Given the description of an element on the screen output the (x, y) to click on. 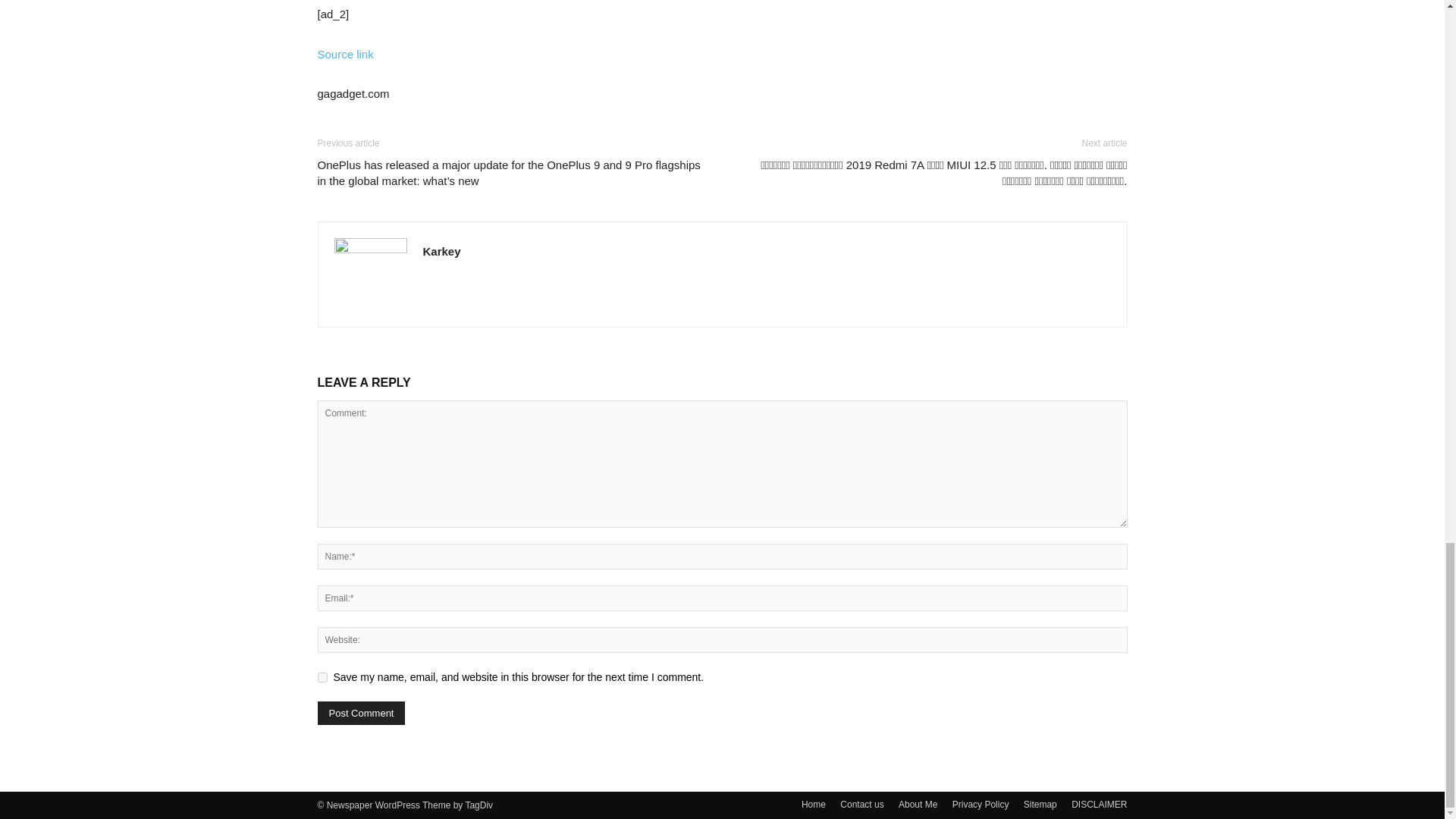
Post Comment (360, 712)
yes (321, 677)
